Given the description of an element on the screen output the (x, y) to click on. 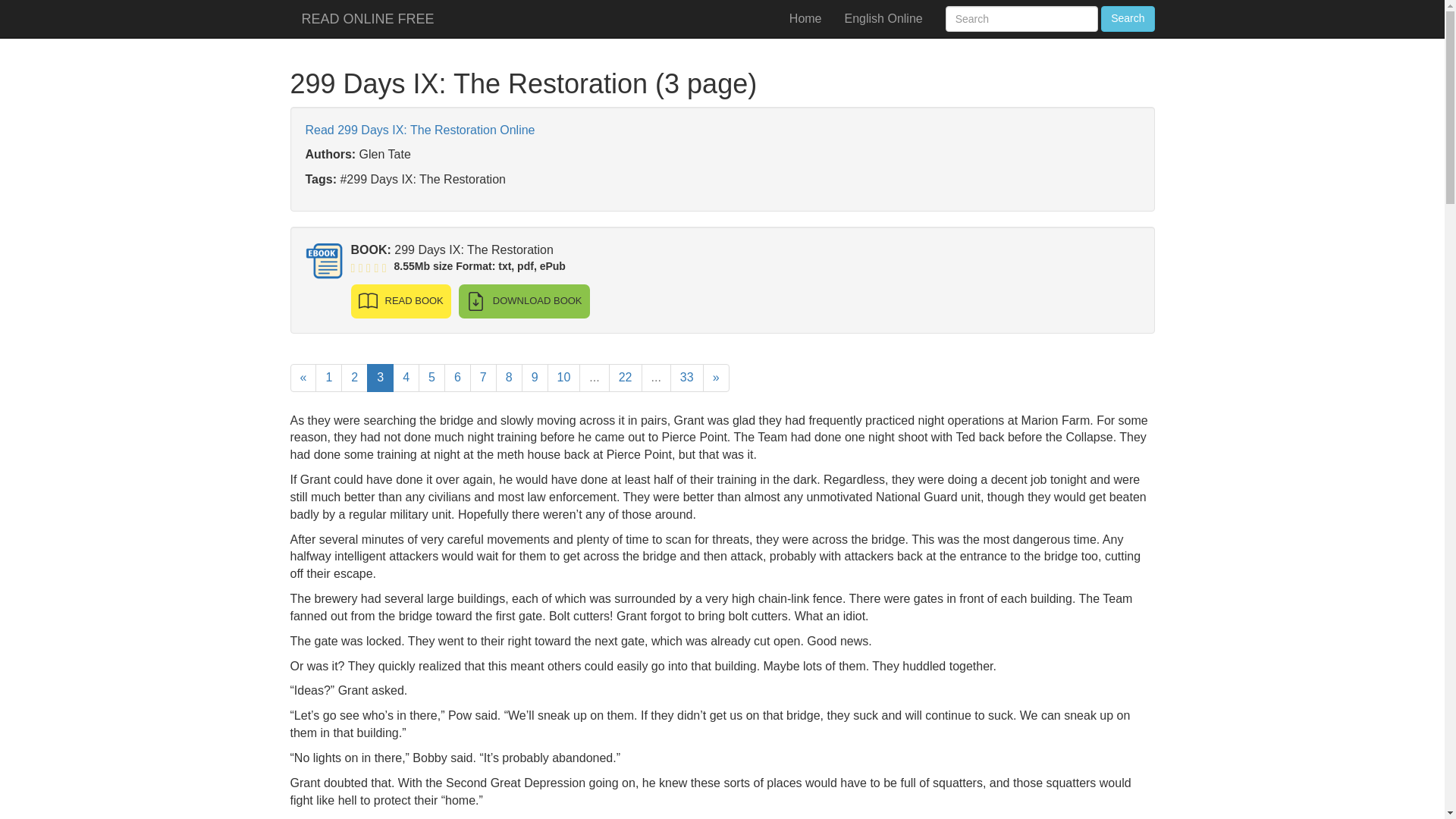
READ ONLINE FREE (367, 18)
4 (406, 377)
33 (686, 377)
English Online (883, 18)
7 (483, 377)
DOWNLOAD BOOK (523, 301)
6 (457, 377)
READ BOOK (399, 301)
5 (432, 377)
22 (625, 377)
